Given the description of an element on the screen output the (x, y) to click on. 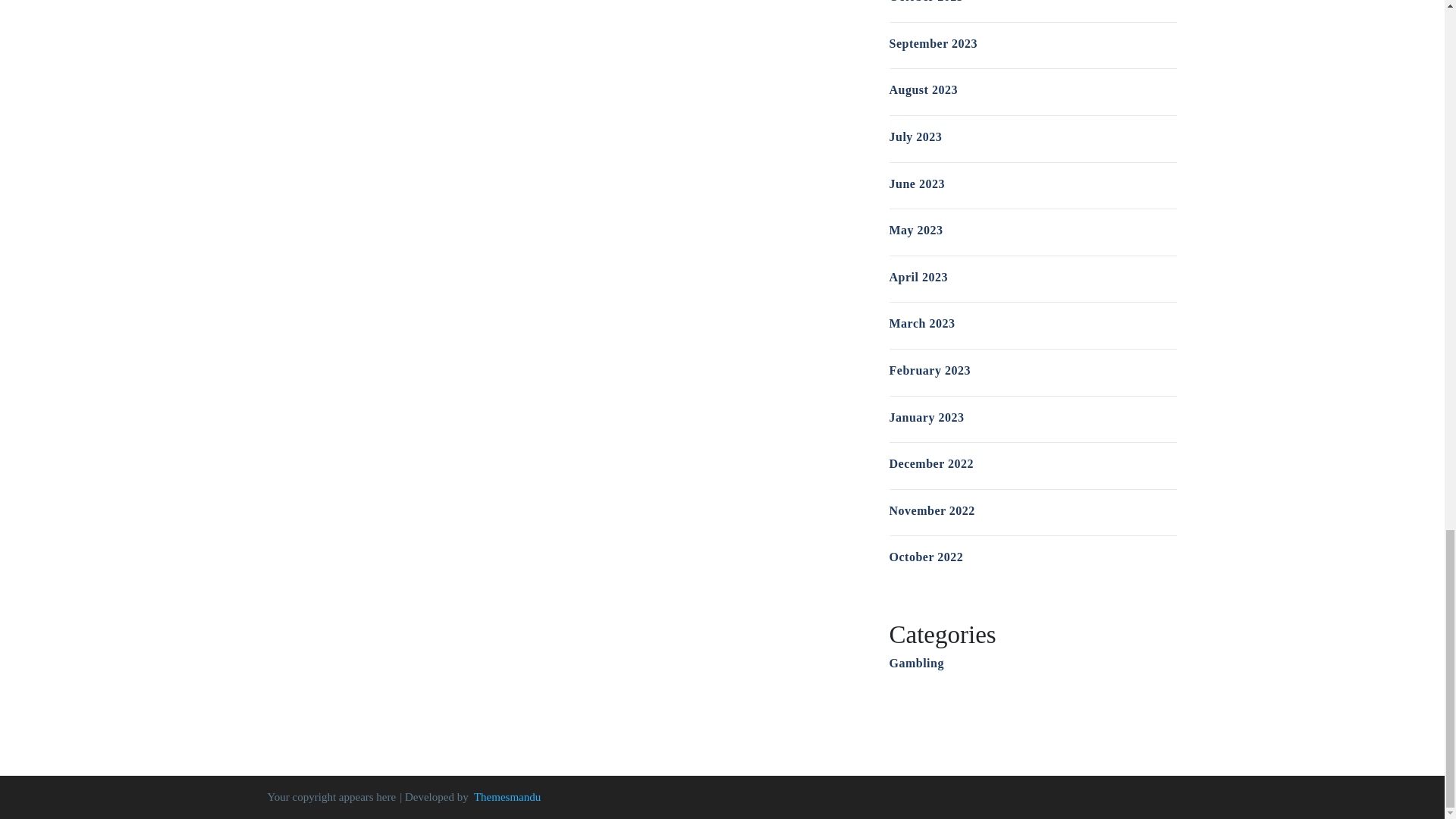
September 2023 (932, 42)
October 2023 (925, 1)
January 2023 (925, 417)
June 2023 (915, 183)
December 2022 (931, 463)
May 2023 (915, 229)
August 2023 (922, 89)
November 2022 (931, 510)
July 2023 (915, 136)
April 2023 (917, 277)
February 2023 (928, 369)
March 2023 (921, 323)
